Given the description of an element on the screen output the (x, y) to click on. 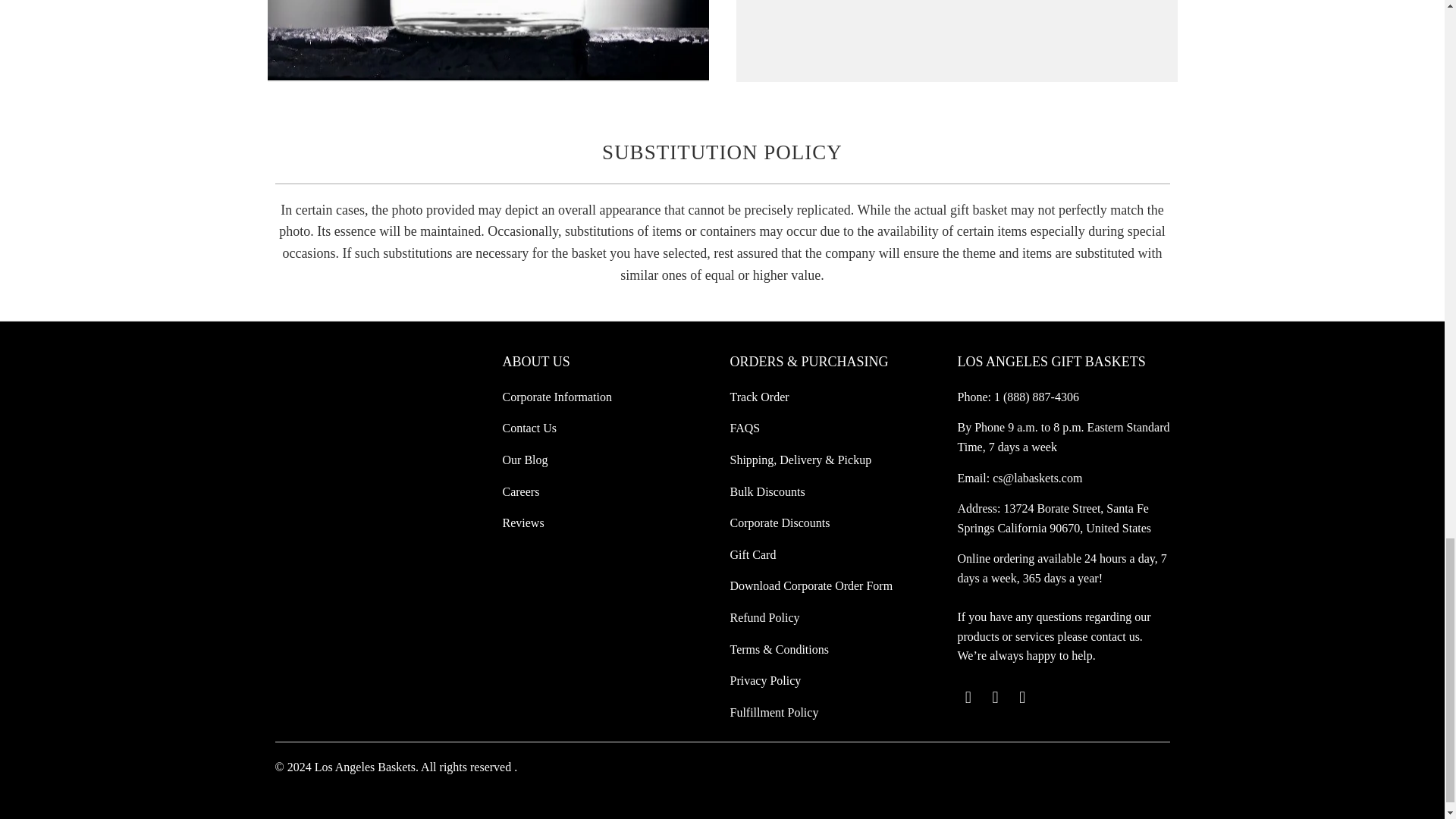
Absolut Vodka (486, 40)
Los Angeles Baskets on Facebook (995, 697)
Los Angeles Baskets on Instagram (1022, 697)
Los Angeles Baskets on Twitter (967, 697)
